Given the description of an element on the screen output the (x, y) to click on. 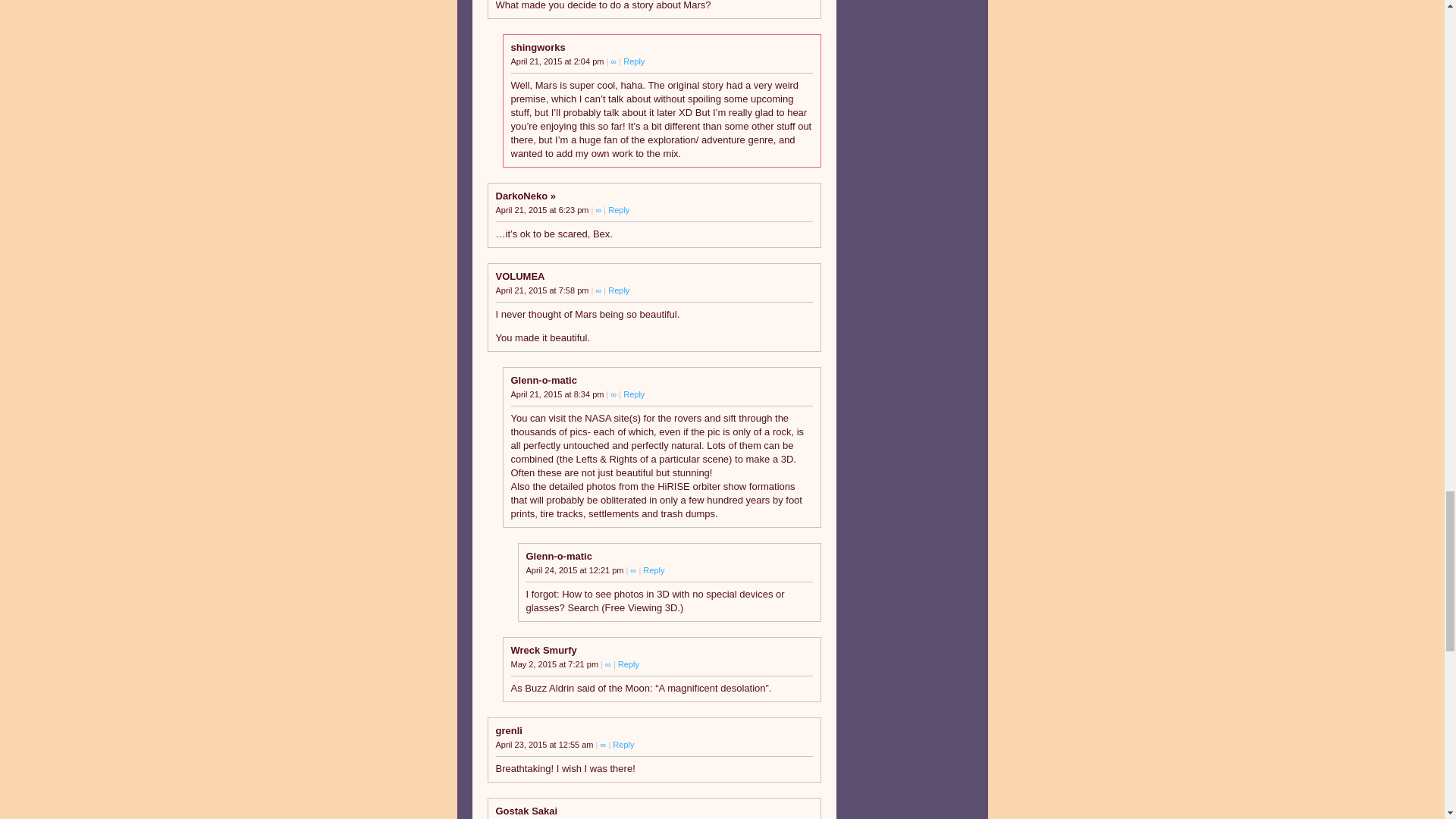
DarkoNeko (526, 195)
Reply (618, 209)
Reply (634, 61)
